Given the description of an element on the screen output the (x, y) to click on. 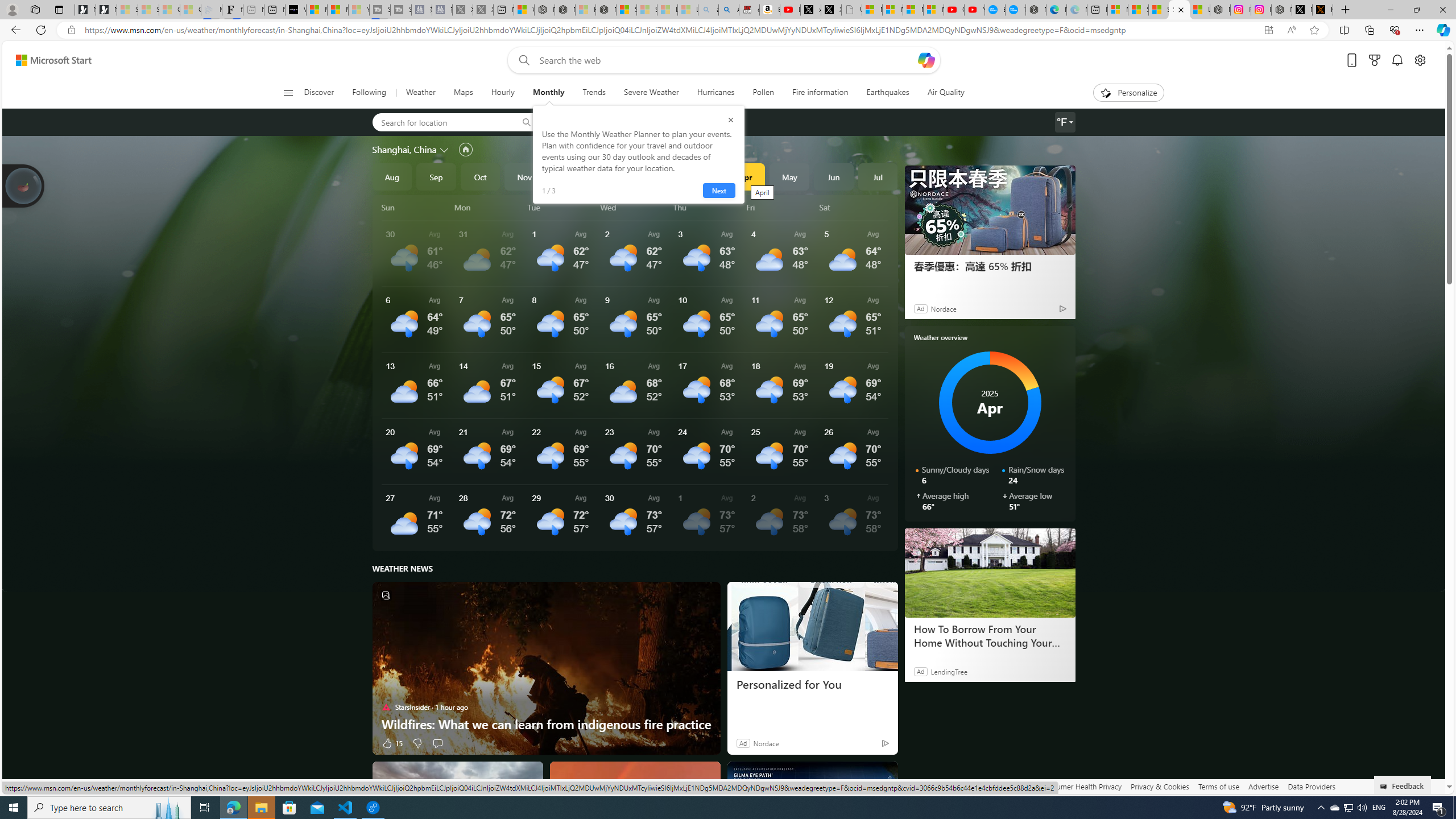
Earthquakes (887, 92)
Sun (416, 207)
Mon (489, 207)
Feb (657, 176)
Join us in planting real trees to help our planet! (23, 185)
Earthquakes (888, 92)
Microsoft Start (337, 9)
YouTube Kids - An App Created for Kids to Explore Content (974, 9)
Mar (700, 176)
